Given the description of an element on the screen output the (x, y) to click on. 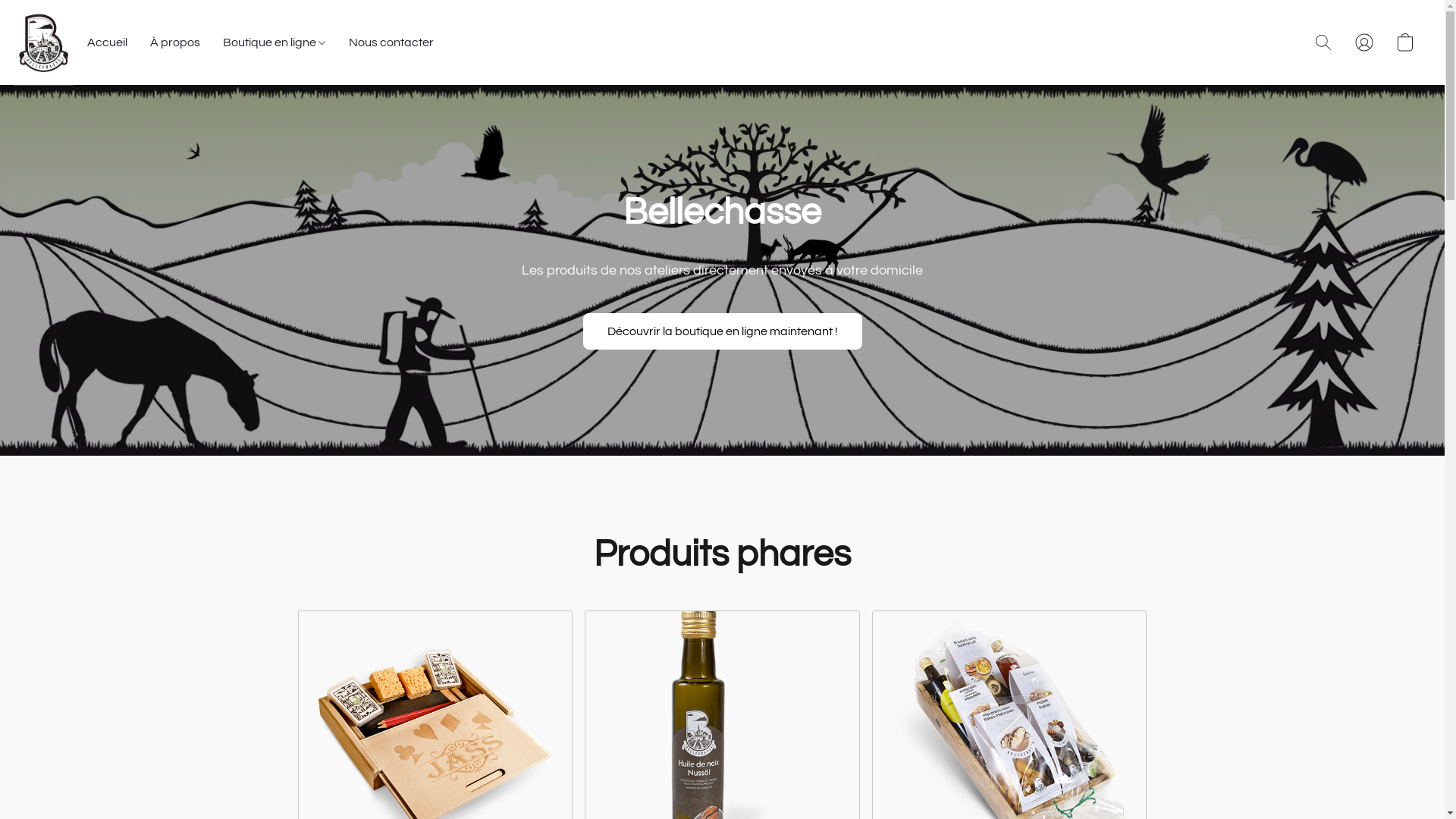
Aller au panier Element type: hover (1404, 42)
Nous contacter Element type: text (385, 42)
Boutique en ligne Element type: text (274, 42)
Accueil Element type: text (112, 42)
Recherche le site Web Element type: hover (1322, 42)
